Given the description of an element on the screen output the (x, y) to click on. 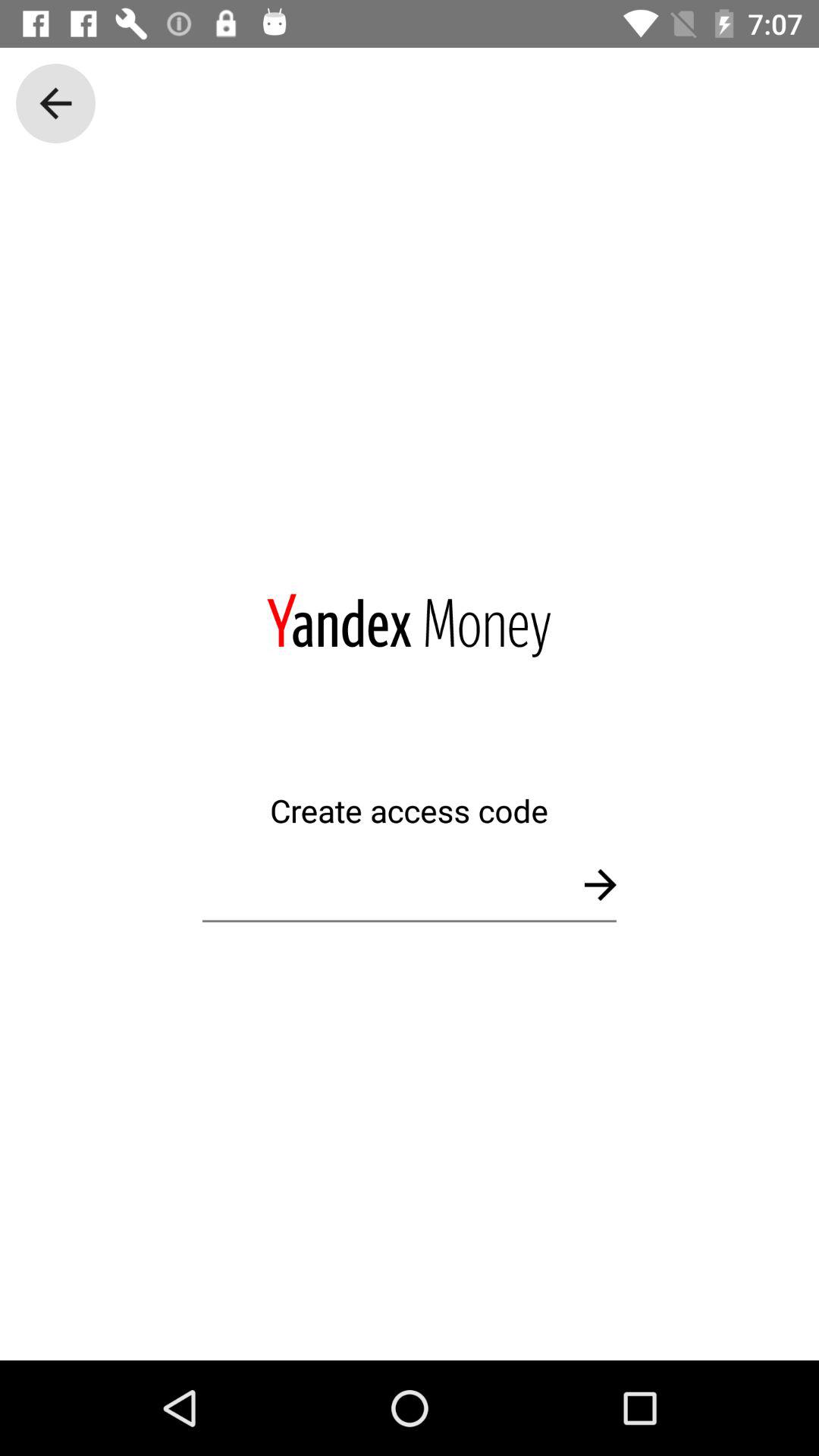
enter access code (409, 884)
